Given the description of an element on the screen output the (x, y) to click on. 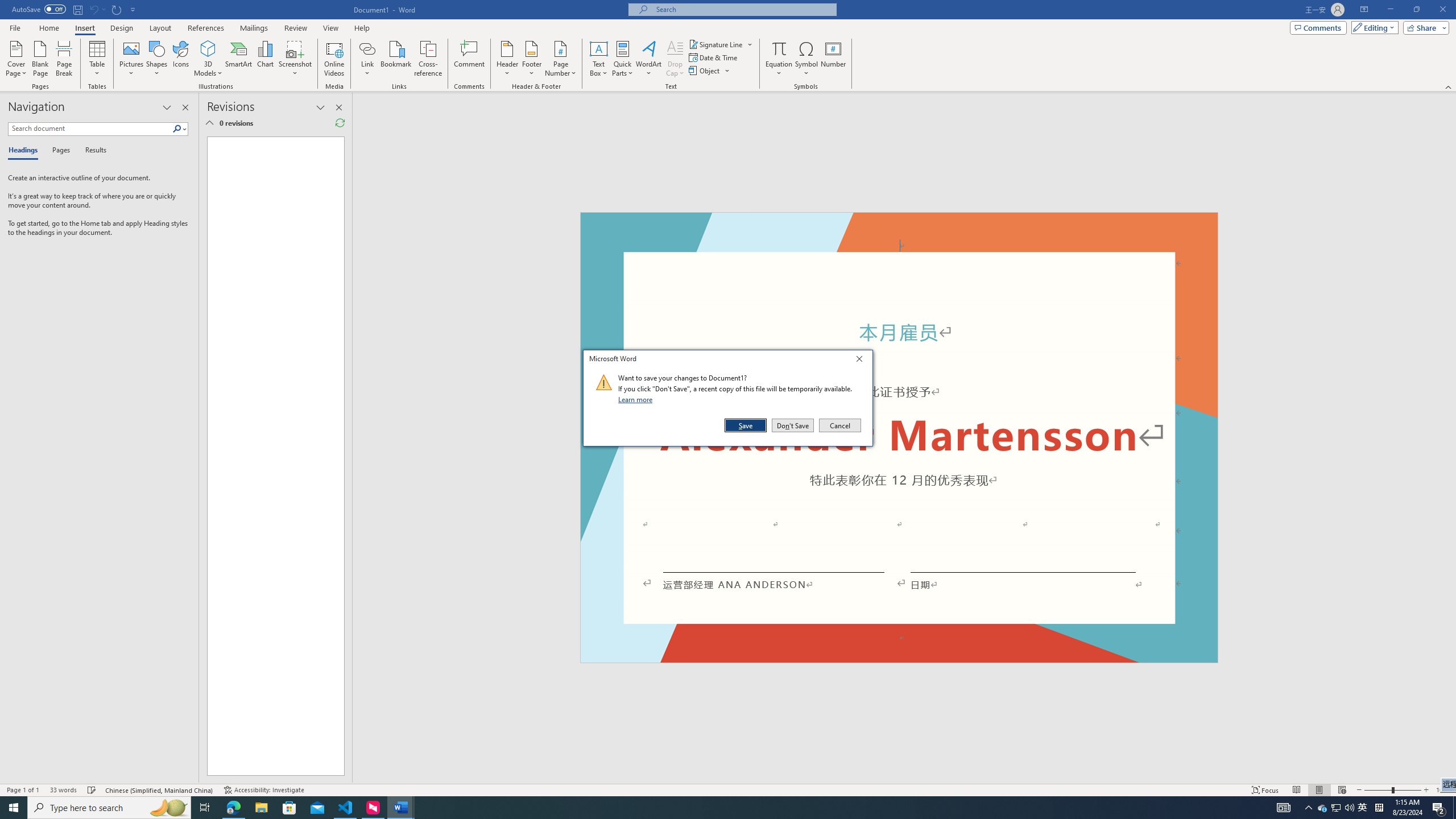
Spelling and Grammar Check Checking (91, 790)
Task View (204, 807)
User Promoted Notification Area (1336, 807)
File Tab (15, 27)
Print Layout (1318, 790)
Link (367, 48)
Share (1423, 27)
Tray Input Indicator - Chinese (Simplified, China) (1378, 807)
Search (179, 128)
Customize Quick Access Toolbar (133, 9)
Ribbon Display Options (1364, 9)
Pages (59, 150)
3D Models (208, 48)
References (205, 28)
Date & Time... (714, 56)
